Given the description of an element on the screen output the (x, y) to click on. 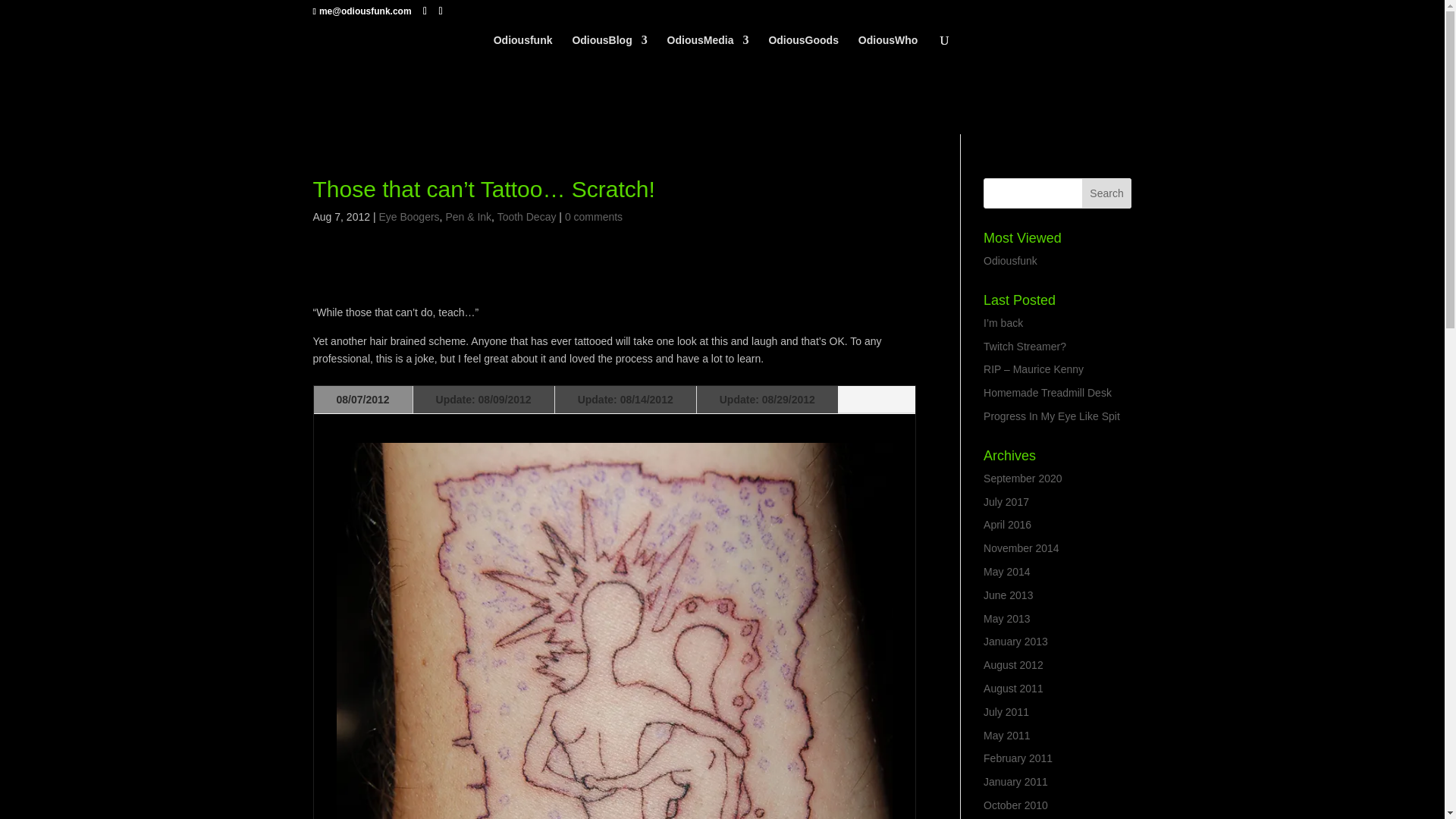
Search (1106, 193)
Tooth Decay (526, 216)
Odiousfunk (523, 50)
Eye Boogers (408, 216)
OdiousBlog (609, 50)
OdiousGoods (803, 50)
0 comments (593, 216)
OdiousWho (888, 50)
OdiousMedia (707, 50)
